Given the description of an element on the screen output the (x, y) to click on. 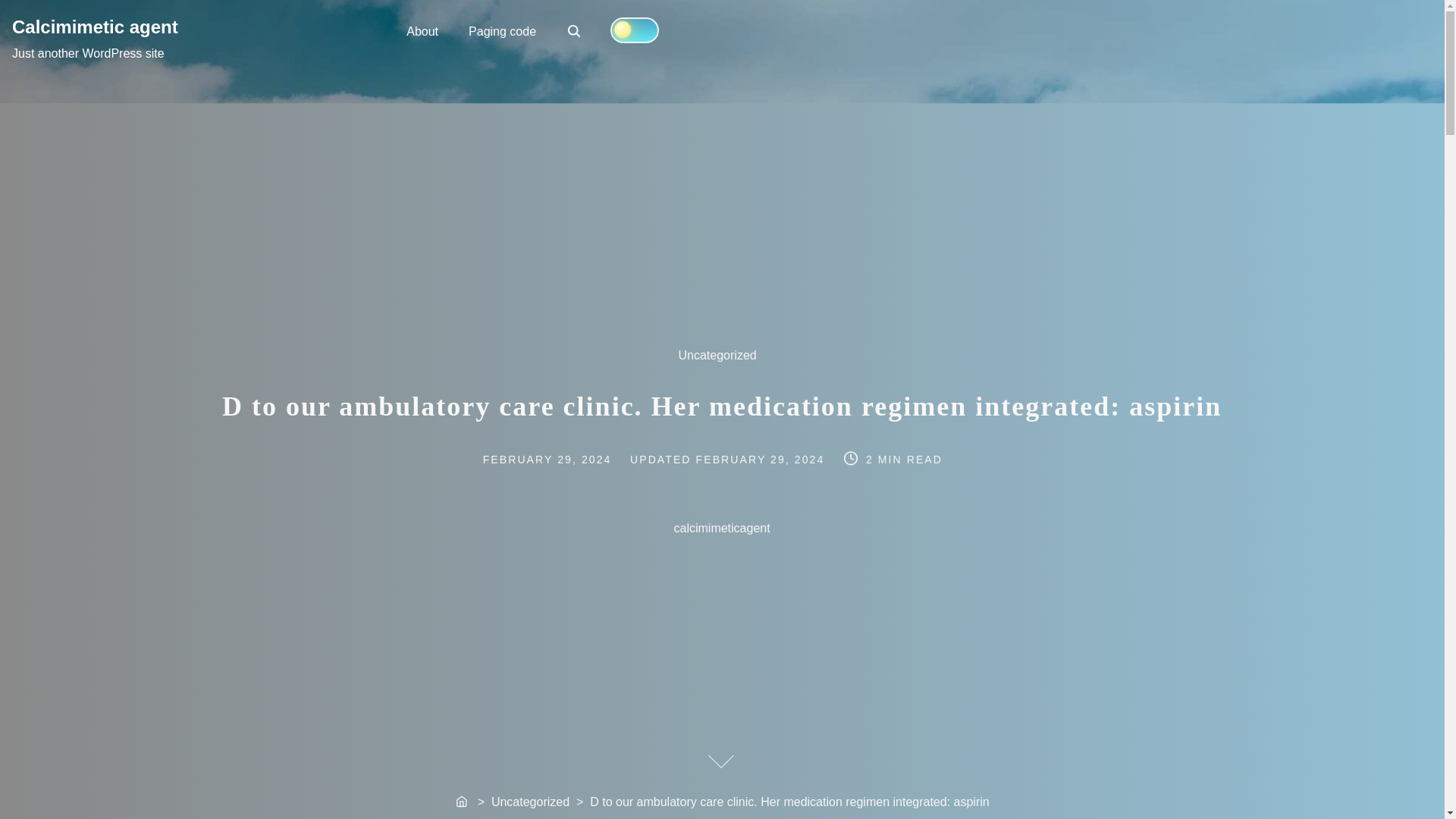
Paging code (501, 30)
Calcimimetic agent (94, 26)
Home (574, 31)
FEBRUARY 29, 2024 (462, 802)
Search (562, 459)
Uncategorized (573, 30)
About (724, 361)
FEBRUARY 29, 2024 (421, 30)
